Given the description of an element on the screen output the (x, y) to click on. 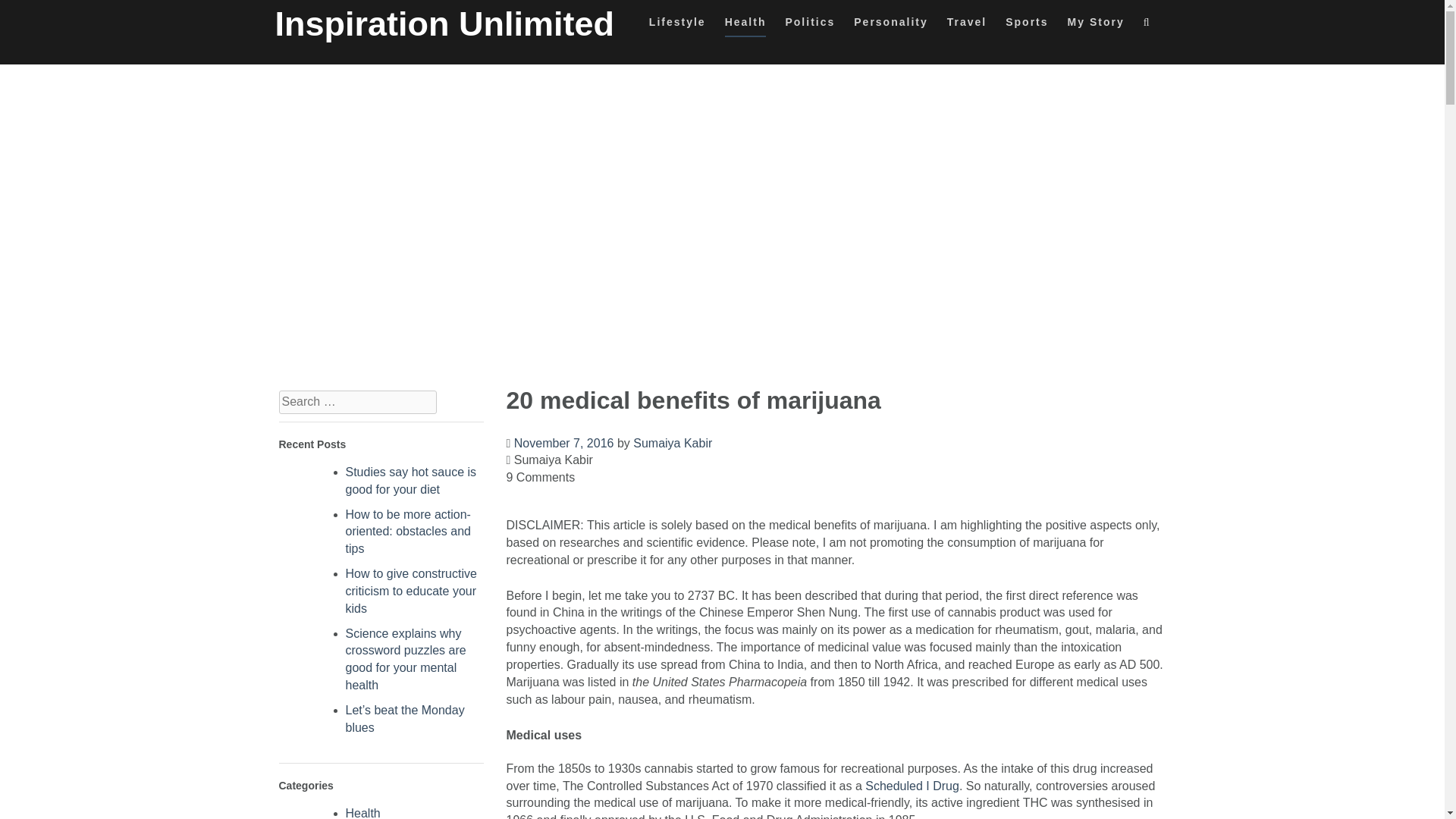
Lifestyle (677, 25)
Health (363, 812)
Health (746, 25)
Inspiration Unlimited (444, 23)
Scheduled I Drug (911, 785)
My Story (1095, 25)
November 7, 2016 (563, 442)
Personality (890, 25)
Politics (809, 25)
